Given the description of an element on the screen output the (x, y) to click on. 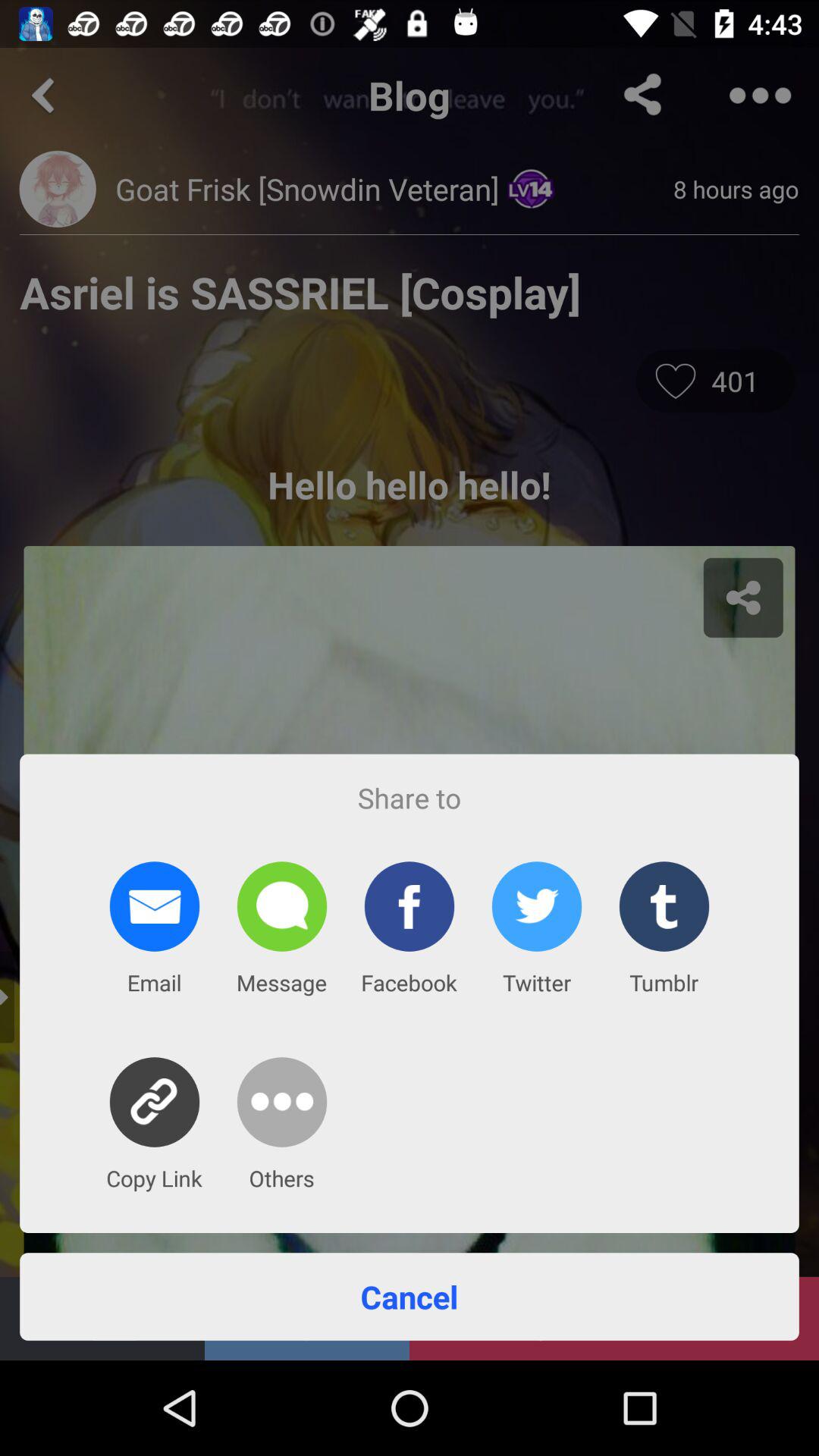
open the item below the copy link app (409, 1296)
